Given the description of an element on the screen output the (x, y) to click on. 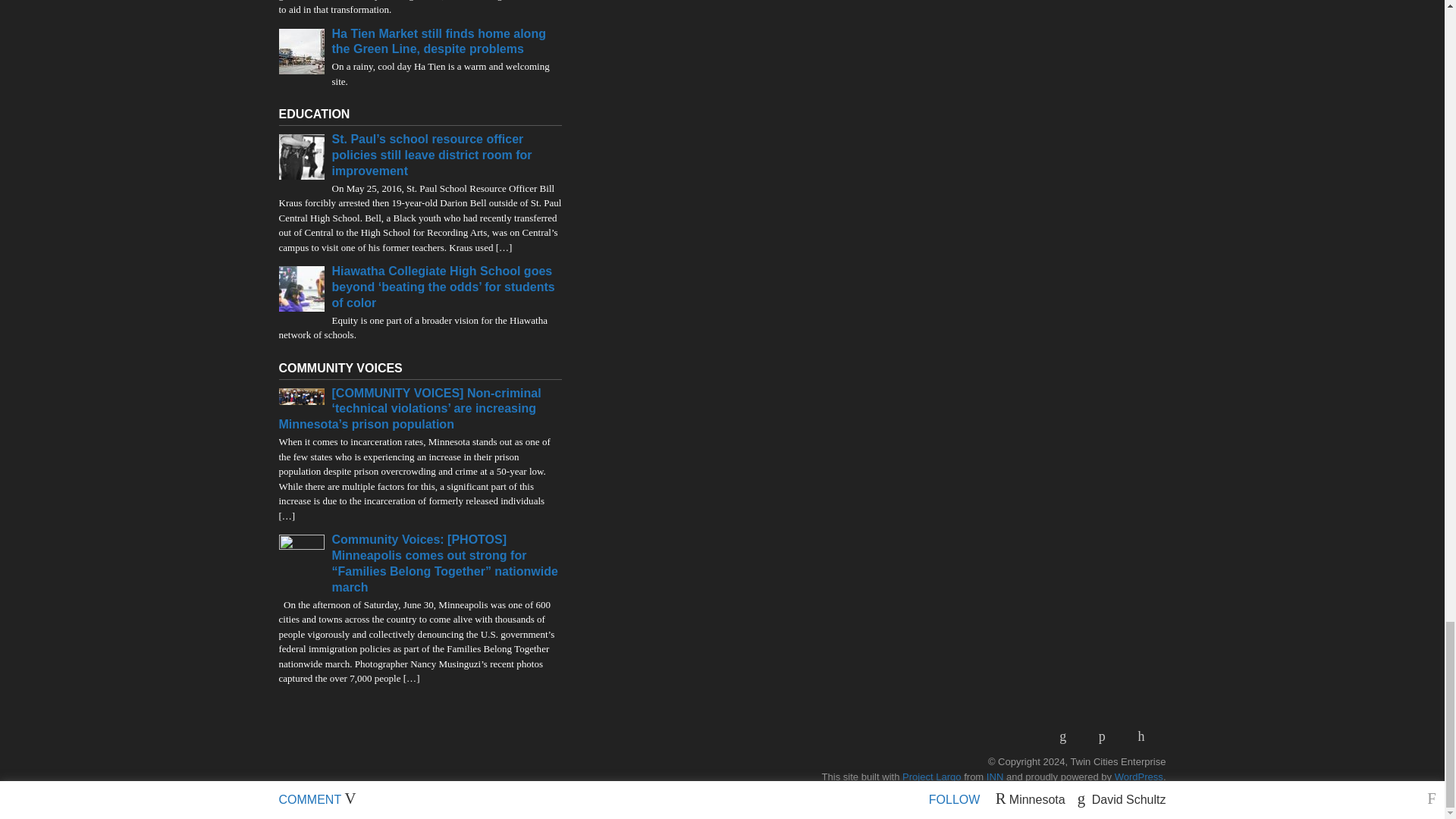
Link to Facebook Profile (1106, 735)
Link to RSS Feed (1067, 735)
Link to Twitter Page (1146, 735)
